Given the description of an element on the screen output the (x, y) to click on. 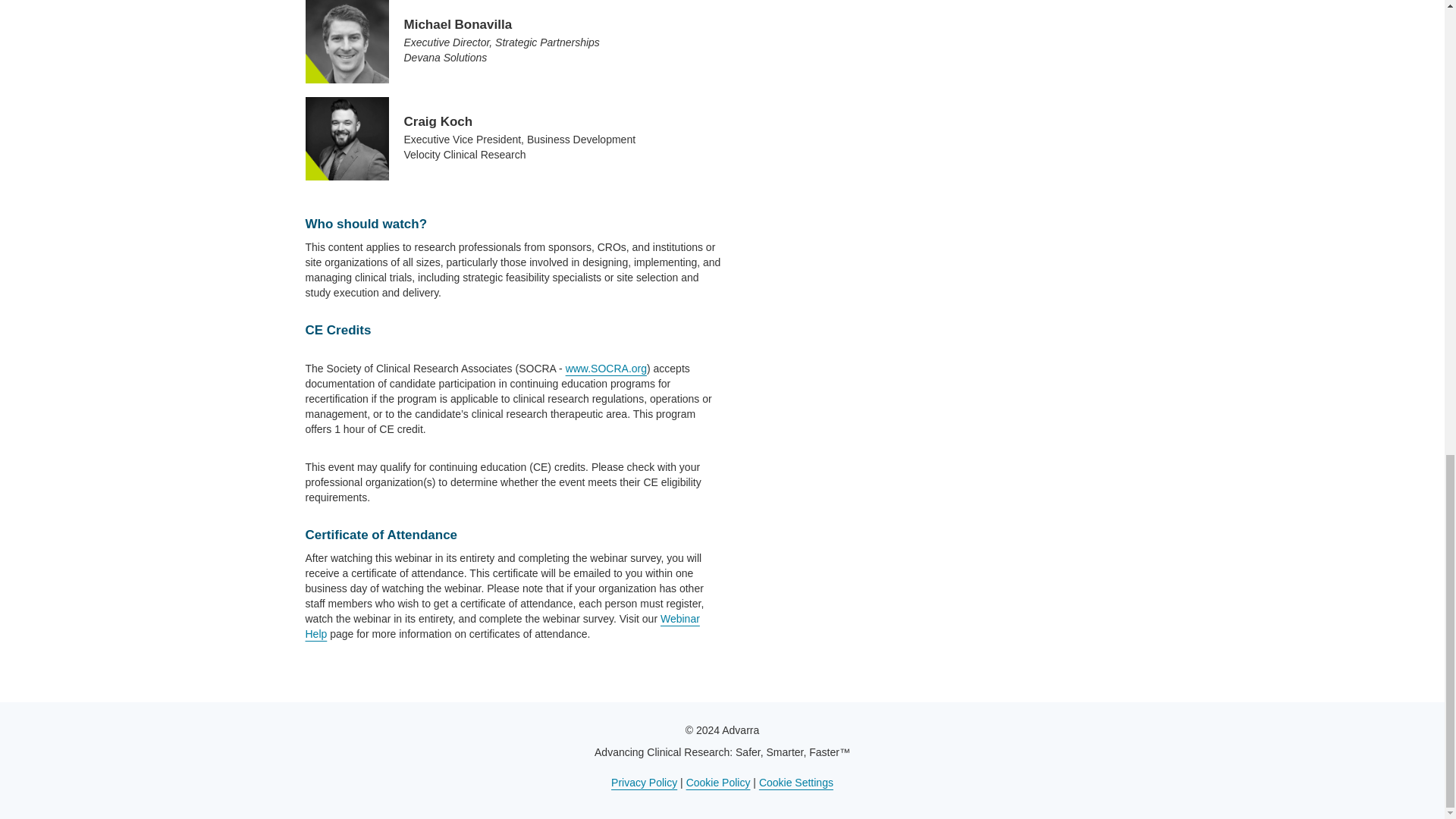
Cookie Policy (718, 782)
www.SOCRA.org (606, 368)
Webinar Help (501, 625)
Privacy Policy (644, 782)
Cookie Settings (795, 782)
